Given the description of an element on the screen output the (x, y) to click on. 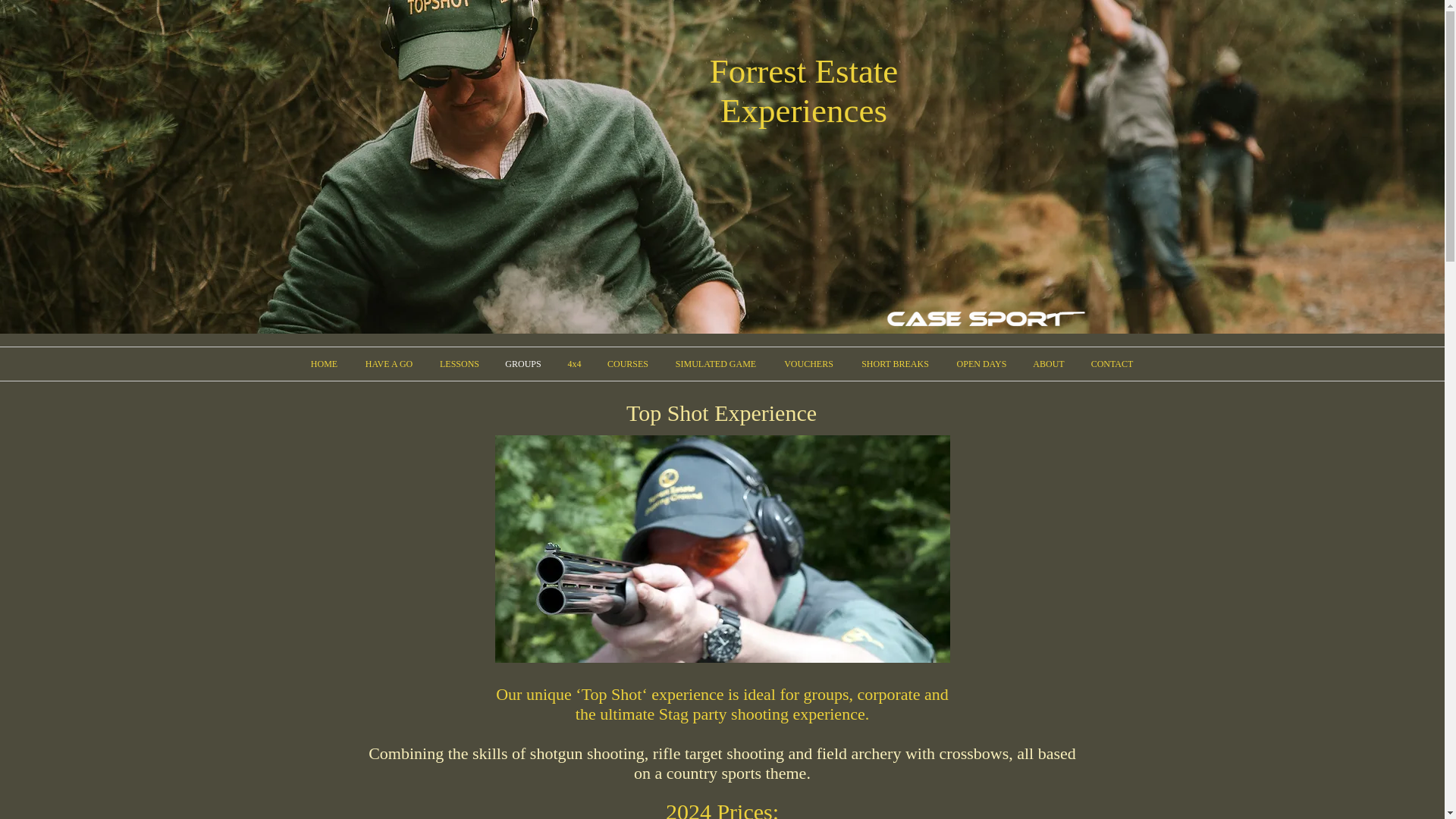
OPEN DAYS (981, 363)
ABOUT (1048, 363)
GROUPS (523, 363)
HOME (323, 363)
VOUCHERS (808, 363)
CONTACT (1112, 363)
COURSES (628, 363)
HAVE A GO (388, 363)
SIMULATED GAME (715, 363)
4x4 (574, 363)
